Given the description of an element on the screen output the (x, y) to click on. 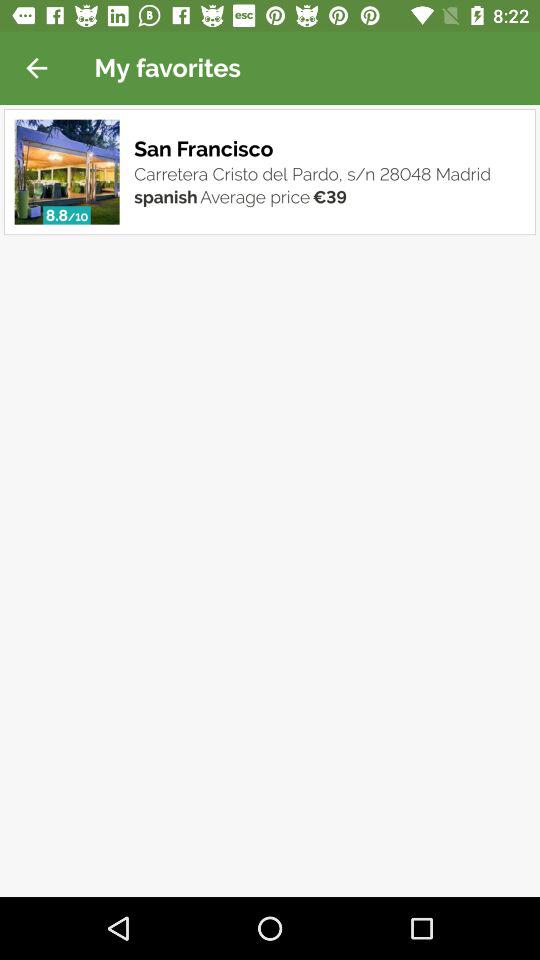
click icon to the left of my favorites item (36, 68)
